Given the description of an element on the screen output the (x, y) to click on. 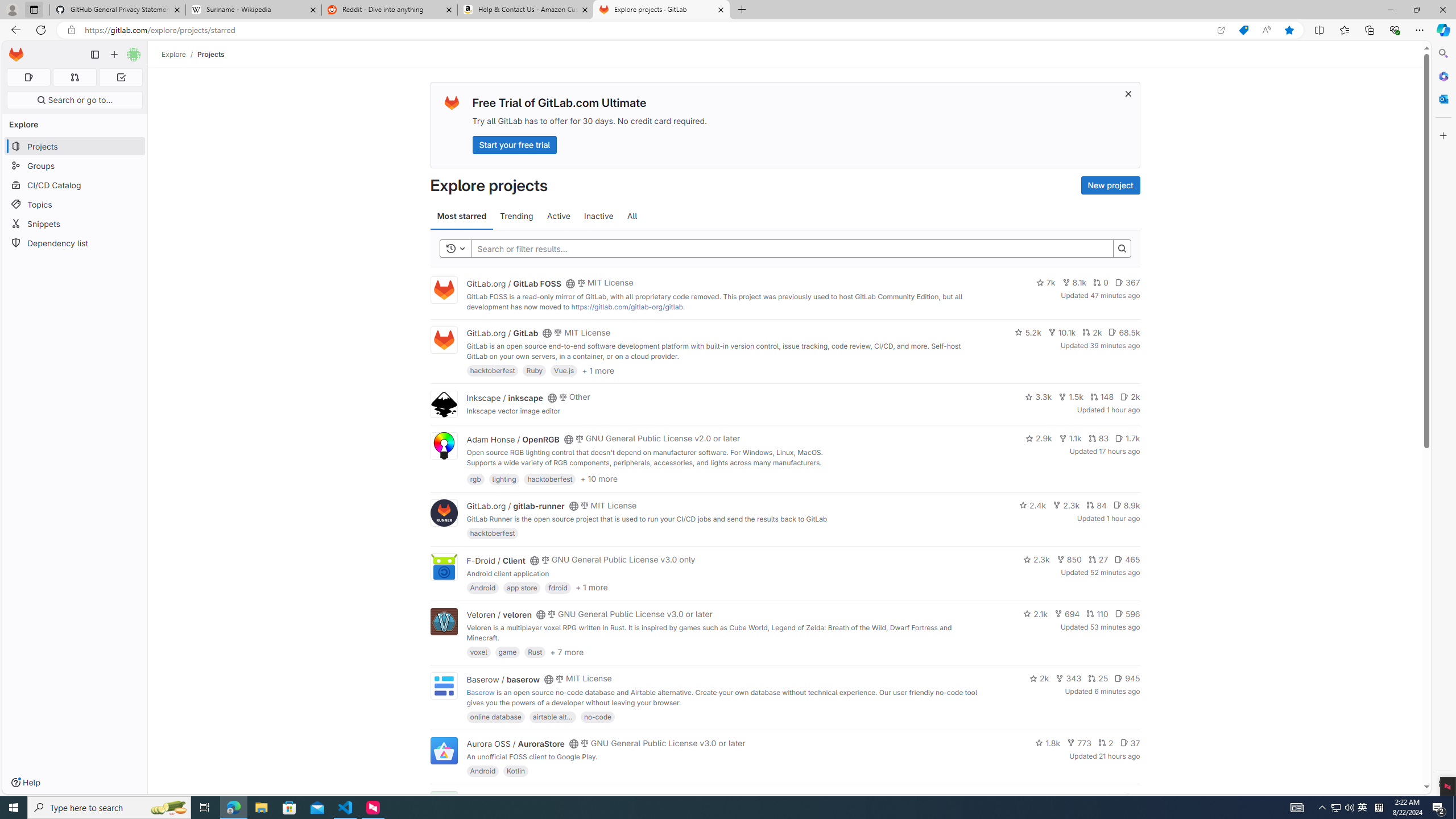
Explore/ (179, 53)
GitLab.org / GitLab FOSS (513, 283)
3.3k (1038, 396)
2.1k (1035, 613)
694 (1067, 613)
Inactive (598, 216)
850 (1068, 559)
https://openrgb.org (563, 472)
Projects (211, 53)
